Given the description of an element on the screen output the (x, y) to click on. 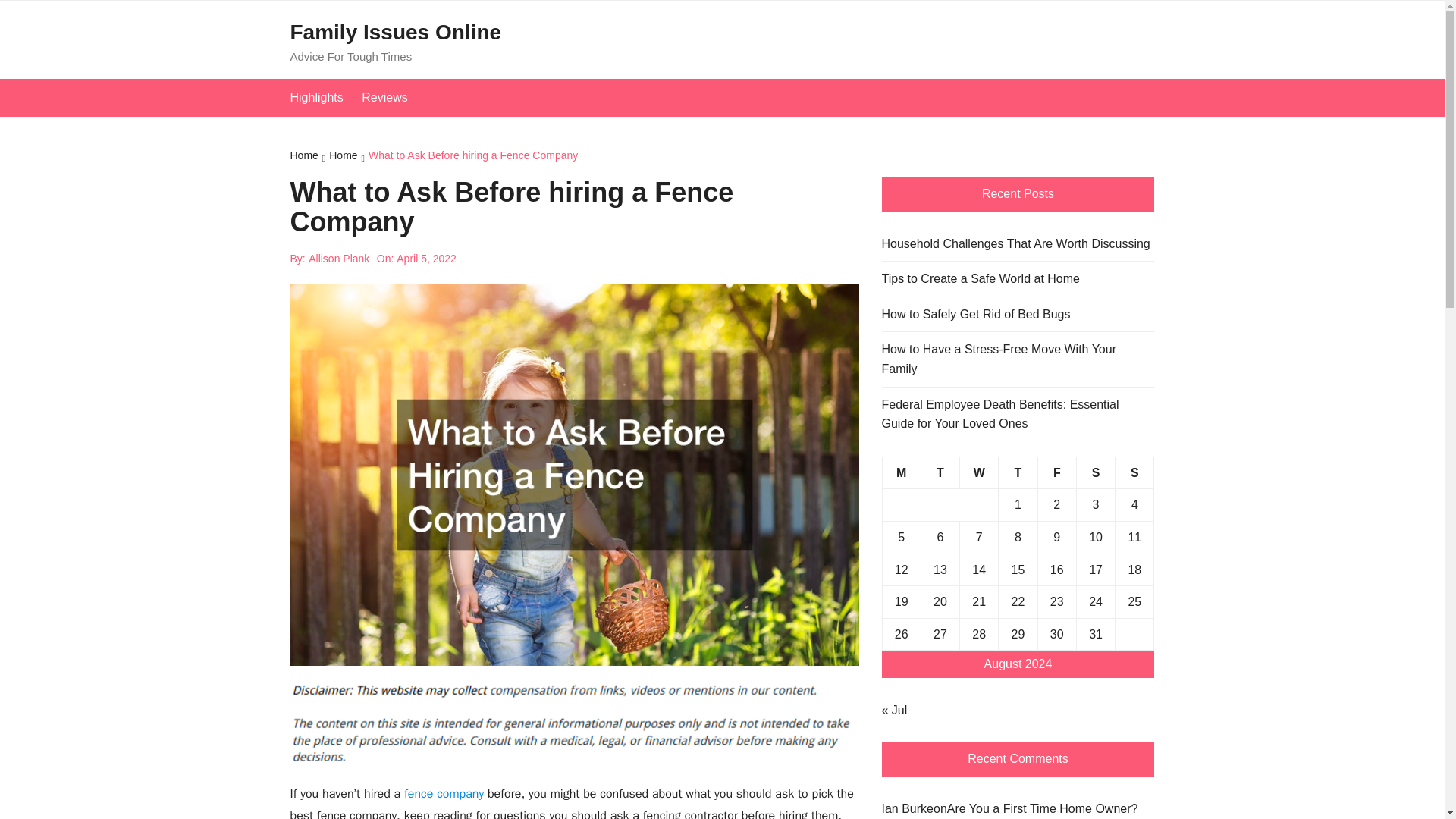
Ian Burke (906, 808)
Saturday (1095, 472)
Sunday (1134, 472)
Household Challenges That Are Worth Discussing (1015, 243)
27 (940, 634)
Tips to Create a Safe World at Home (979, 279)
How to Have a Stress-Free Move With Your Family (1017, 358)
Friday (1055, 472)
Are You a First Time Home Owner? (1042, 809)
April 5, 2022 (426, 258)
